Given the description of an element on the screen output the (x, y) to click on. 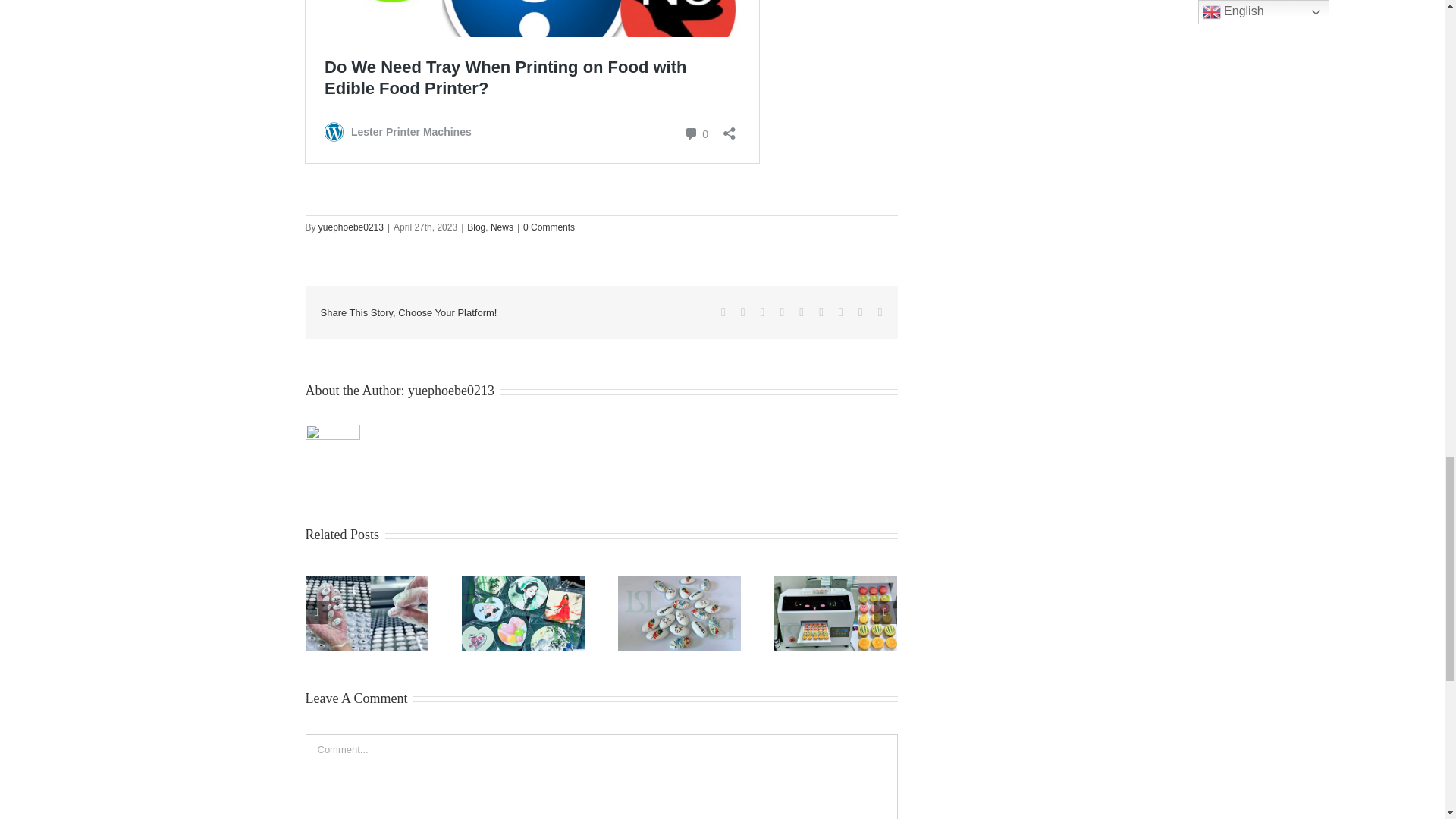
Posts by yuephoebe0213 (351, 226)
